Given the description of an element on the screen output the (x, y) to click on. 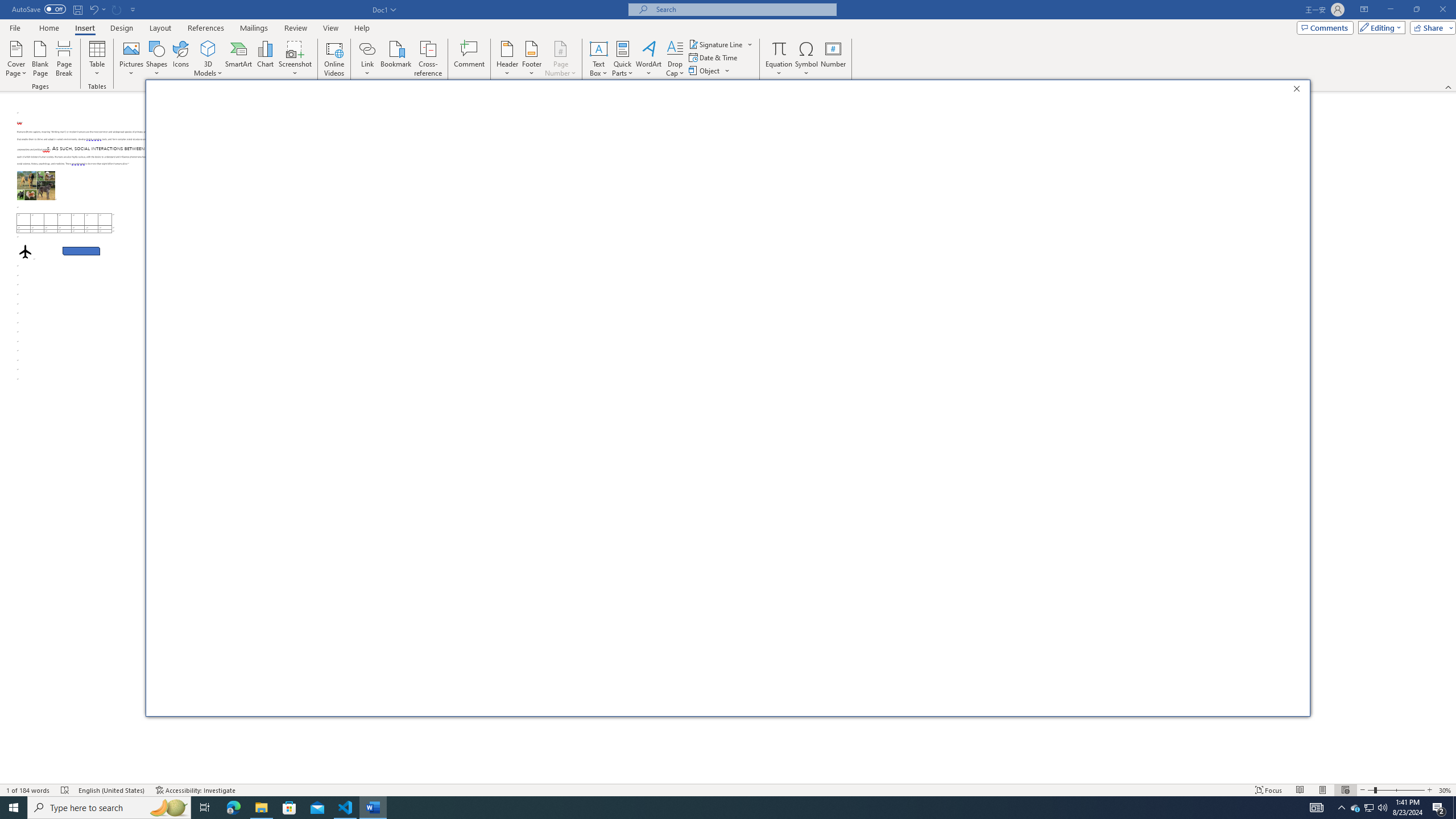
Editing (1379, 27)
Equation (778, 58)
Notification Chevron (1341, 807)
Drop Cap (674, 58)
Show desktop (1454, 807)
Microsoft Store (289, 807)
Task View (204, 807)
